Given the description of an element on the screen output the (x, y) to click on. 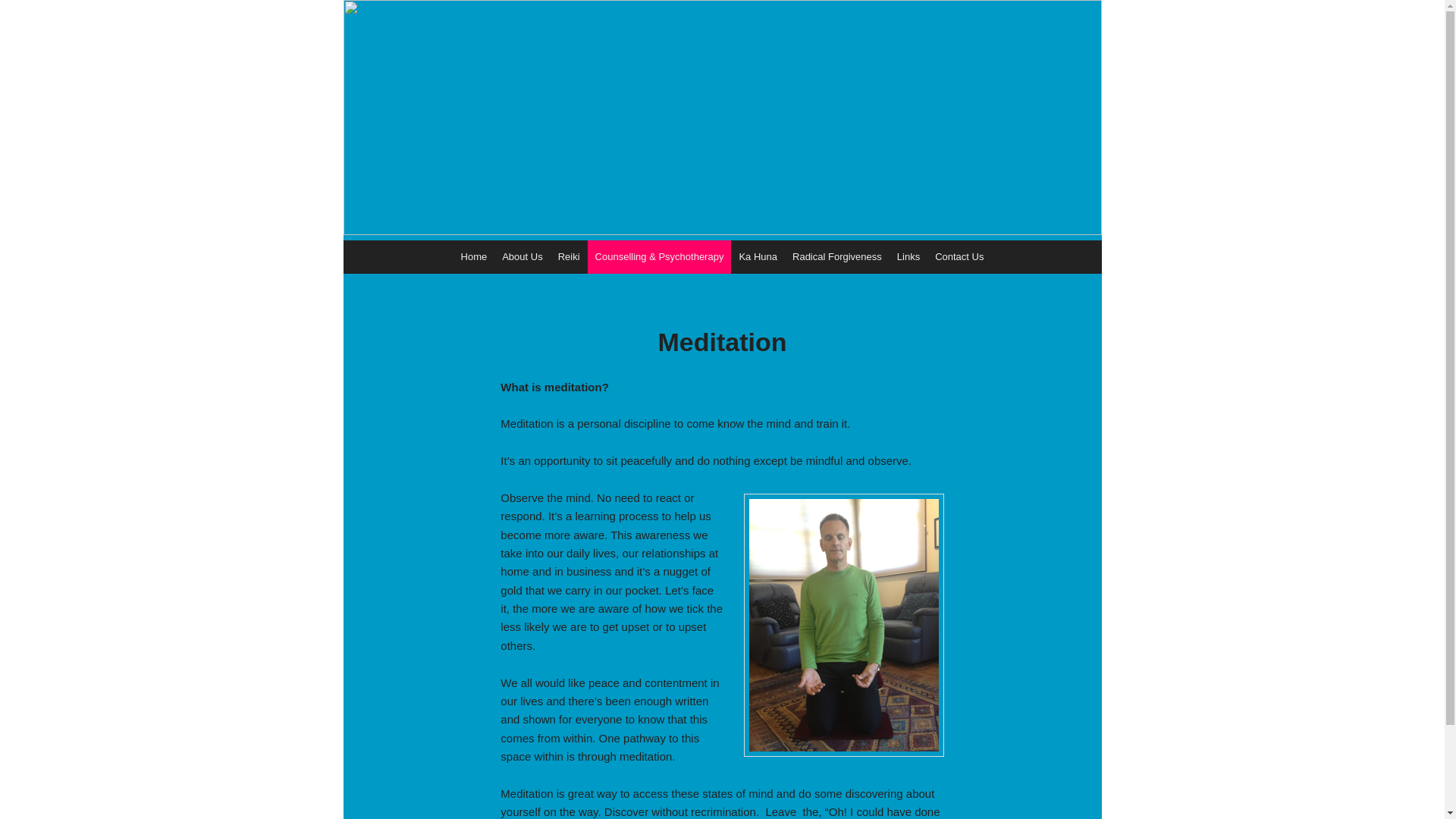
Ka Huna Element type: text (757, 256)
Contact Us Element type: text (959, 256)
Counselling & Psychotherapy Element type: text (659, 256)
Reiki Element type: text (568, 256)
Links Element type: text (908, 256)
About Us Element type: text (521, 256)
Radical Forgiveness Element type: text (836, 256)
Infinite Healing Element type: text (423, 79)
Home Element type: text (474, 256)
